Given the description of an element on the screen output the (x, y) to click on. 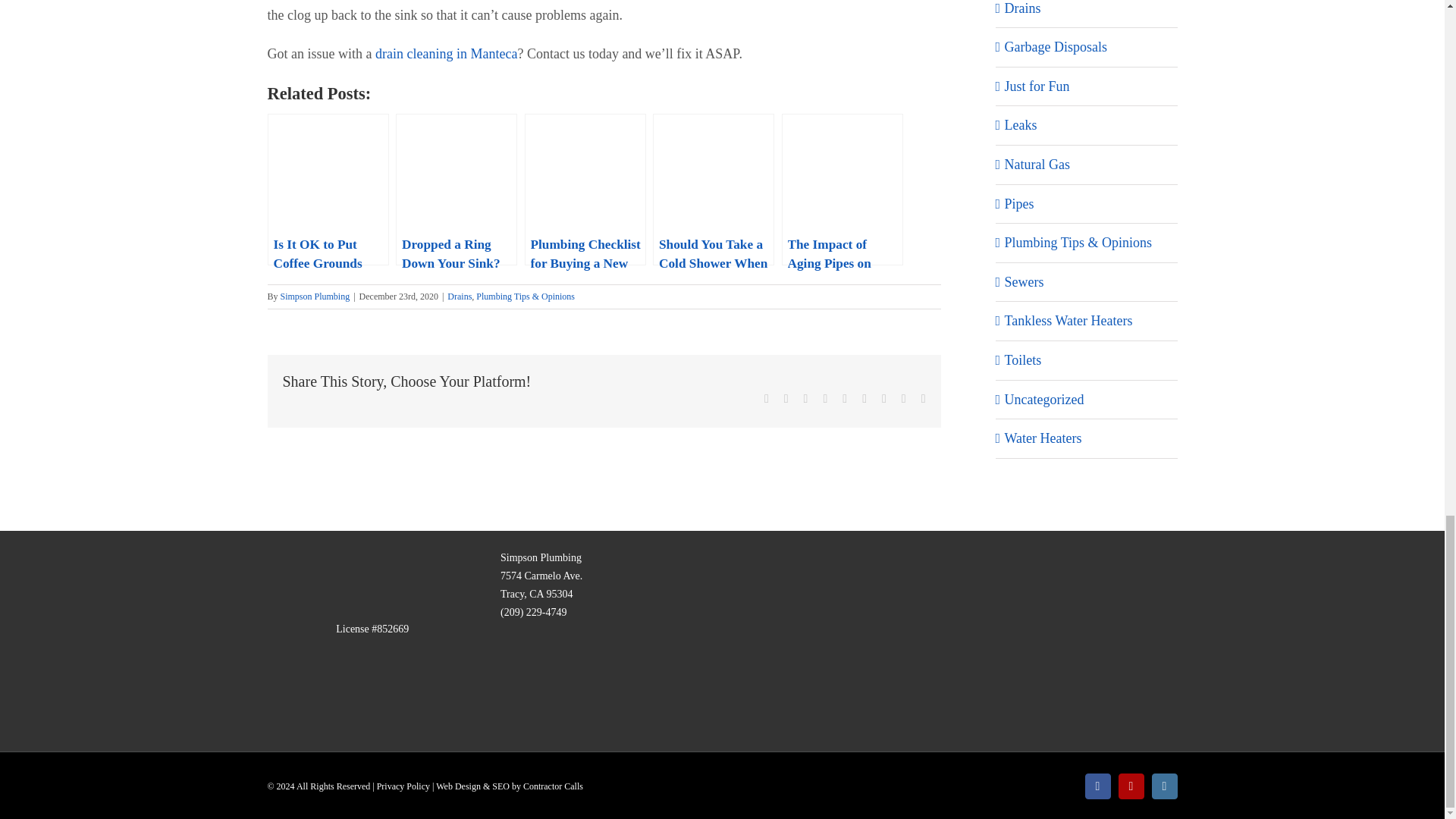
Is It OK to Put Coffee Grounds Down the Toilet? (327, 189)
The Impact of Aging Pipes on Drain Cleaning (841, 189)
WhatsApp (845, 398)
Should You Take a Cold Shower When Sick? (713, 189)
X (786, 398)
Reddit (805, 398)
Plumbing Checklist for Buying a New Home (585, 189)
Tumblr (863, 398)
Facebook (766, 398)
LinkedIn (824, 398)
Posts by Simpson Plumbing (315, 296)
Pinterest (884, 398)
